Given the description of an element on the screen output the (x, y) to click on. 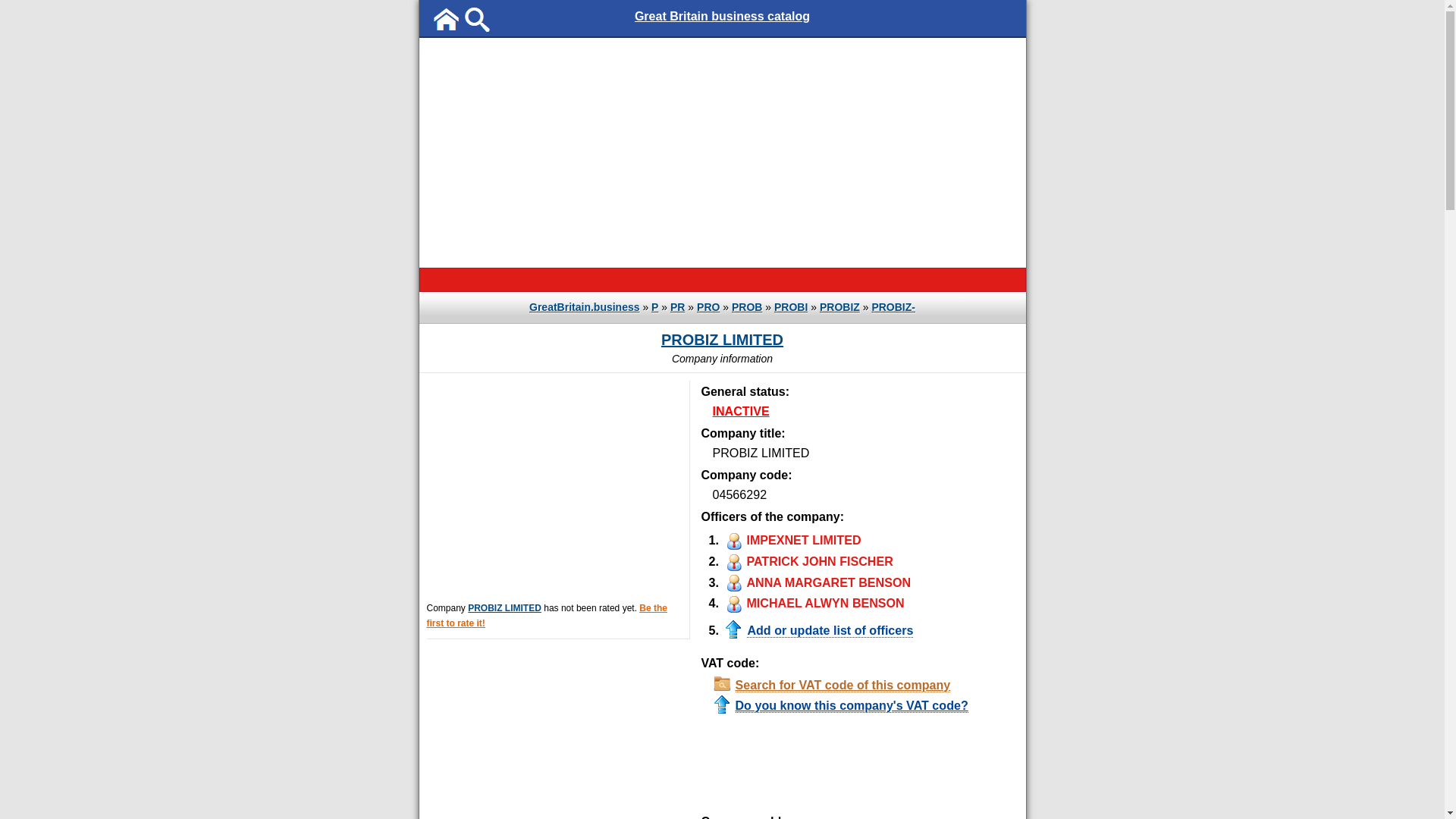
Do you know this company's VAT code? Element type: text (863, 705)
More info about MICHAEL ALWYN BENSONMICHAEL ALWYN BENSON Element type: text (812, 602)
Search for VAT code of this company Element type: text (863, 684)
Advertisement Element type: hover (721, 151)
P Element type: text (654, 307)
PROBI Element type: text (790, 307)
PRO Element type: text (707, 307)
More info about ANNA MARGARET BENSONANNA MARGARET BENSON Element type: text (815, 581)
More info about PATRICK JOHN FISCHERPATRICK JOHN FISCHER Element type: text (806, 560)
Great Britain business catalog Element type: text (721, 15)
Advertisement Element type: hover (773, 765)
Advertisement Element type: hover (553, 486)
PROBIZ LIMITED Element type: text (722, 339)
Be the first to rate it! Element type: text (546, 615)
PROBIZ LIMITED Element type: text (504, 607)
PR Element type: text (677, 307)
PROBIZ Element type: text (839, 307)
Add or update list of officers Element type: text (818, 630)
GreatBritain.business Element type: text (584, 307)
More info about IMPEXNET LIMITEDIMPEXNET LIMITED Element type: text (790, 539)
PROB Element type: text (746, 307)
PROBIZ- Element type: text (893, 307)
